Given the description of an element on the screen output the (x, y) to click on. 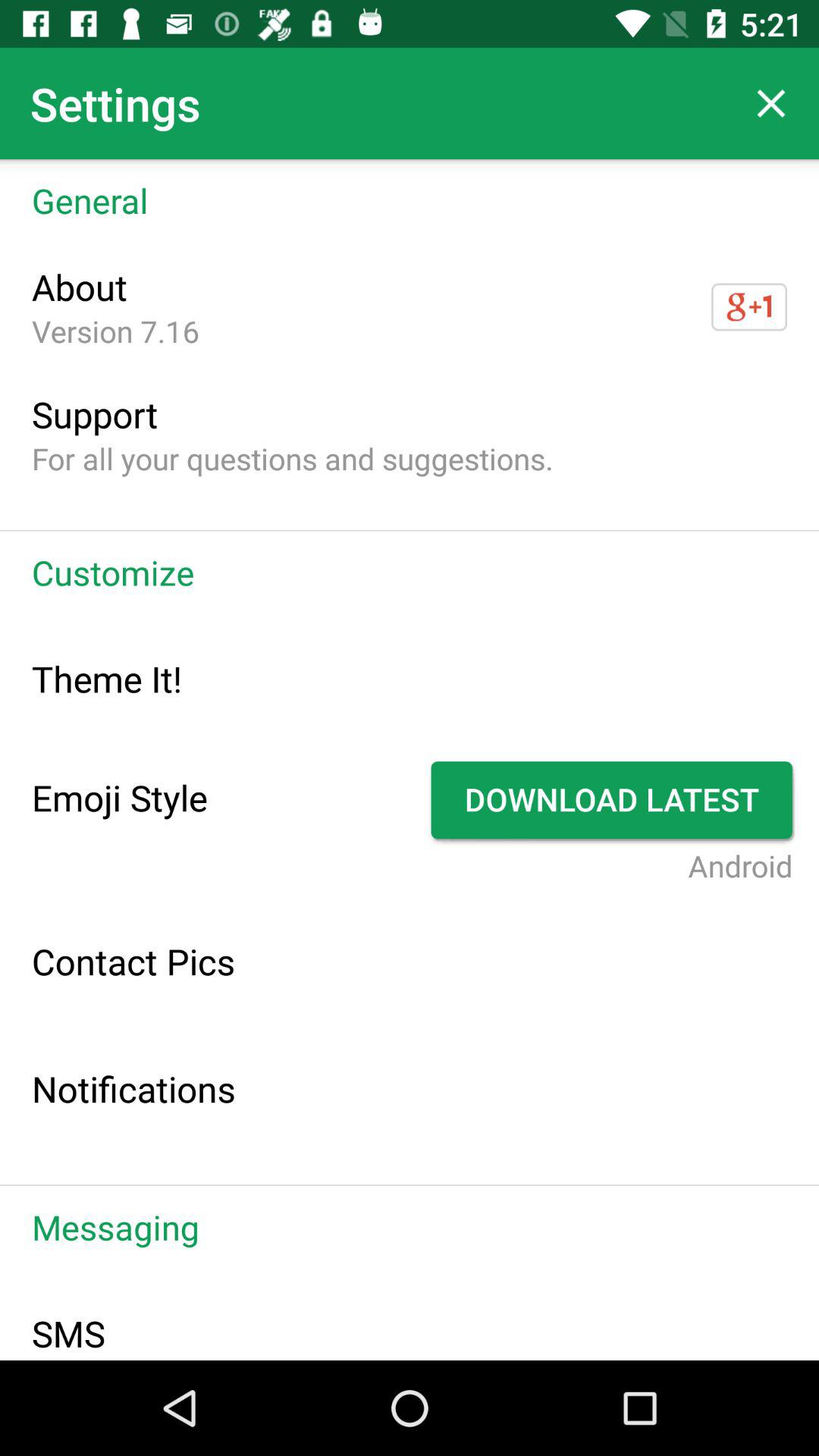
click the download latest item (613, 799)
